Given the description of an element on the screen output the (x, y) to click on. 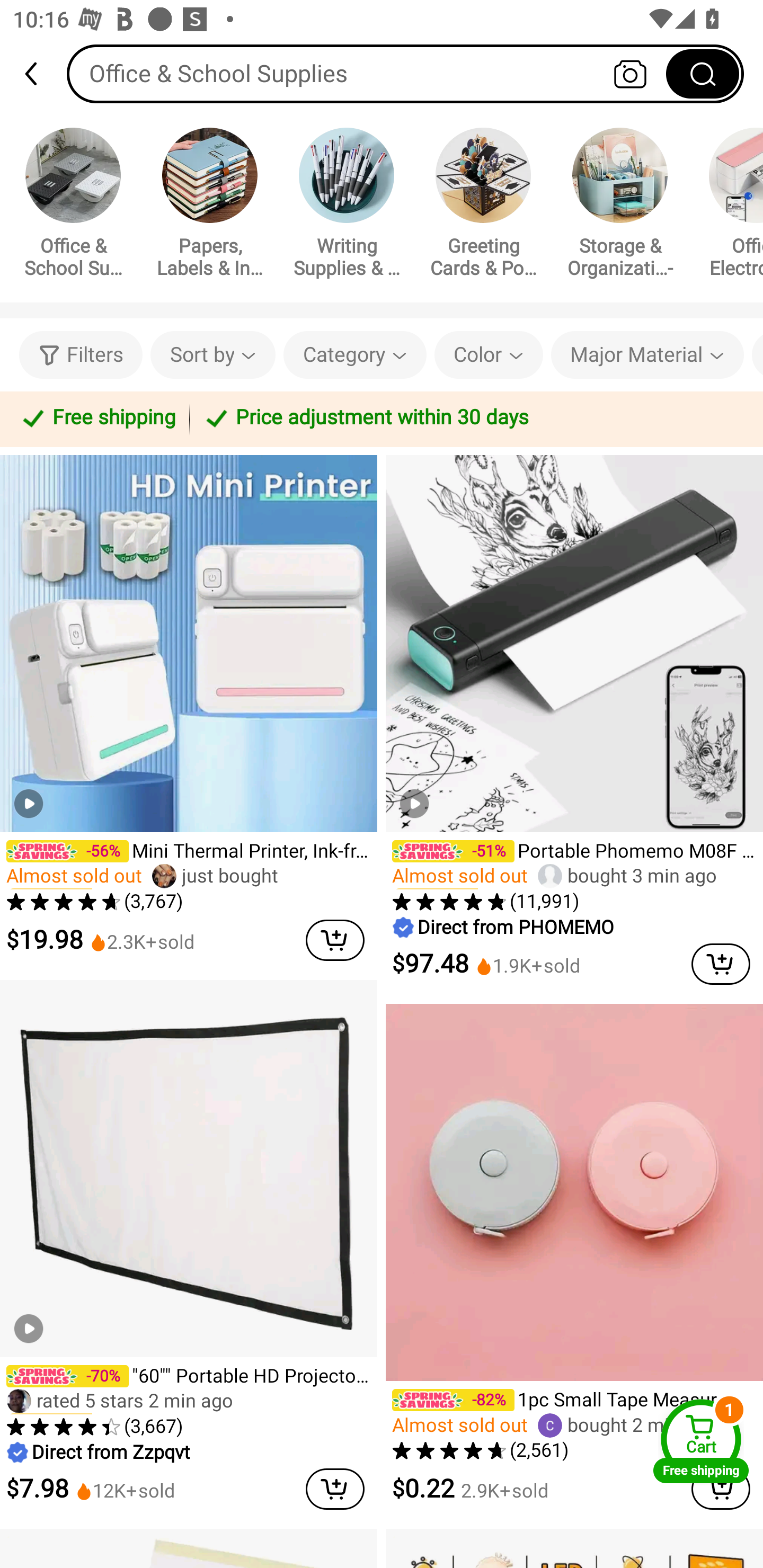
back (39, 73)
Office & School Supplies (405, 73)
Office & School Supplies (73, 205)
Papers, Labels & Indexes (209, 205)
Writing Supplies & Correction Supplies (346, 205)
Greeting Cards & Postcards (483, 205)
Storage & Organization (619, 205)
Filters (80, 354)
Sort by (212, 354)
Category (354, 354)
Color (488, 354)
Major Material (646, 354)
Free shipping (97, 418)
Price adjustment within 30 days (472, 418)
cart delete (334, 939)
cart delete (720, 963)
Cart Free shipping Cart (701, 1440)
cart delete (334, 1488)
